Given the description of an element on the screen output the (x, y) to click on. 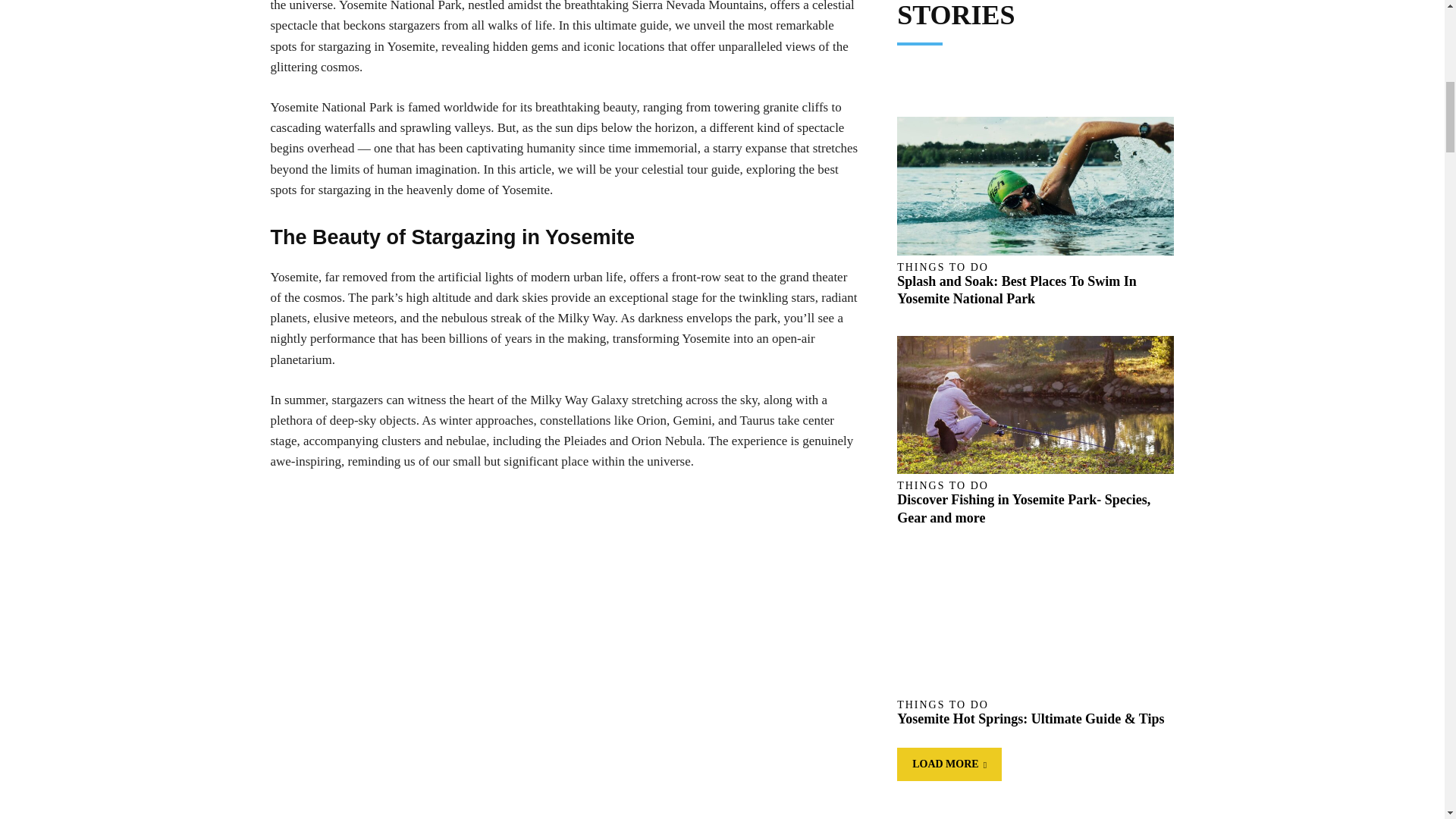
THINGS TO DO (942, 267)
THINGS TO DO (942, 705)
Discover Fishing in Yosemite Park- Species, Gear and more (1023, 508)
LOAD MORE (948, 764)
THINGS TO DO (942, 485)
Discover Fishing in Yosemite Park- Species, Gear and more (1034, 405)
Discover Fishing in Yosemite Park- Species, Gear and more (1023, 508)
